Given the description of an element on the screen output the (x, y) to click on. 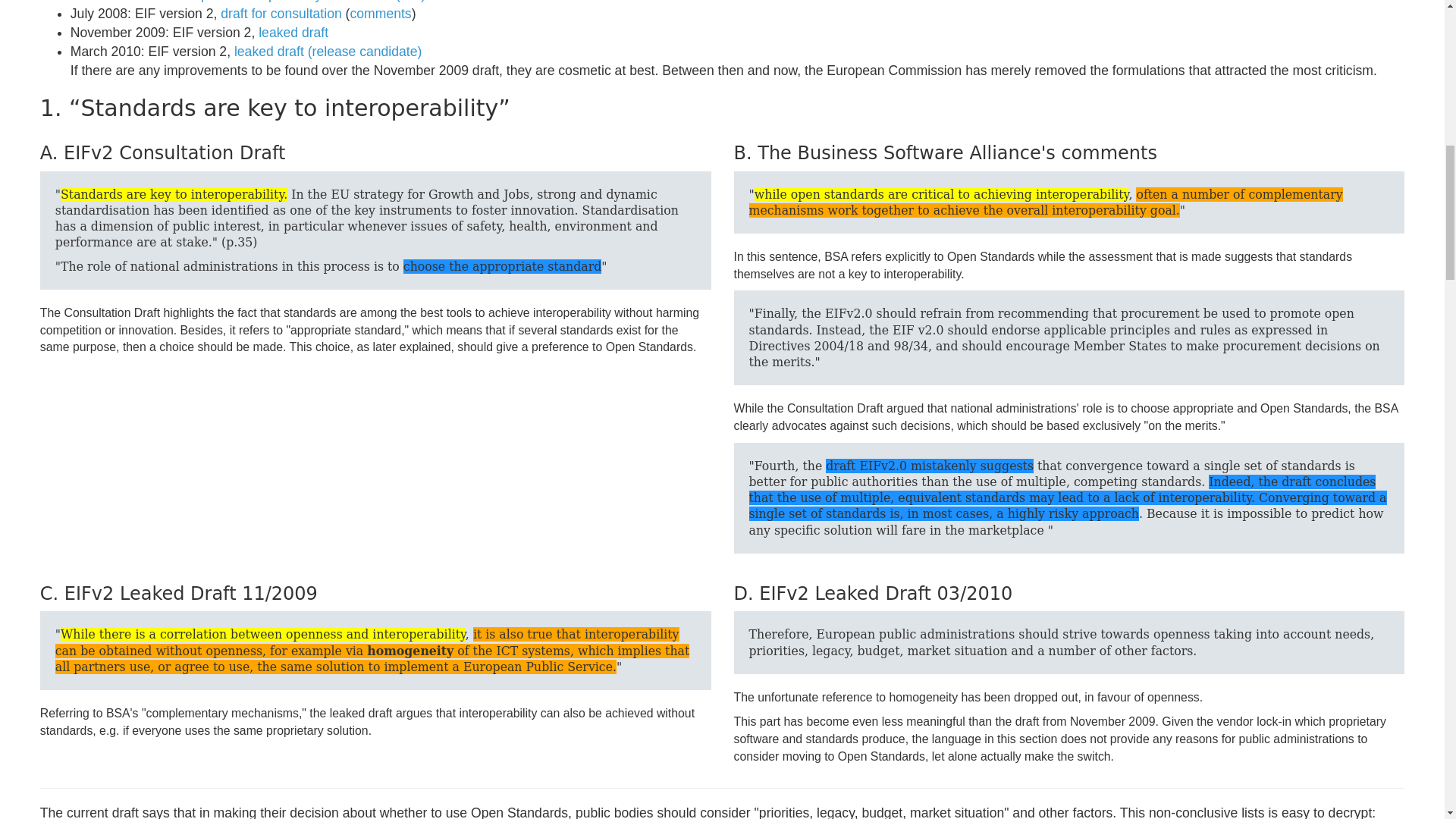
draft for consultation (280, 13)
leaked draft (294, 32)
comments (379, 13)
